Given the description of an element on the screen output the (x, y) to click on. 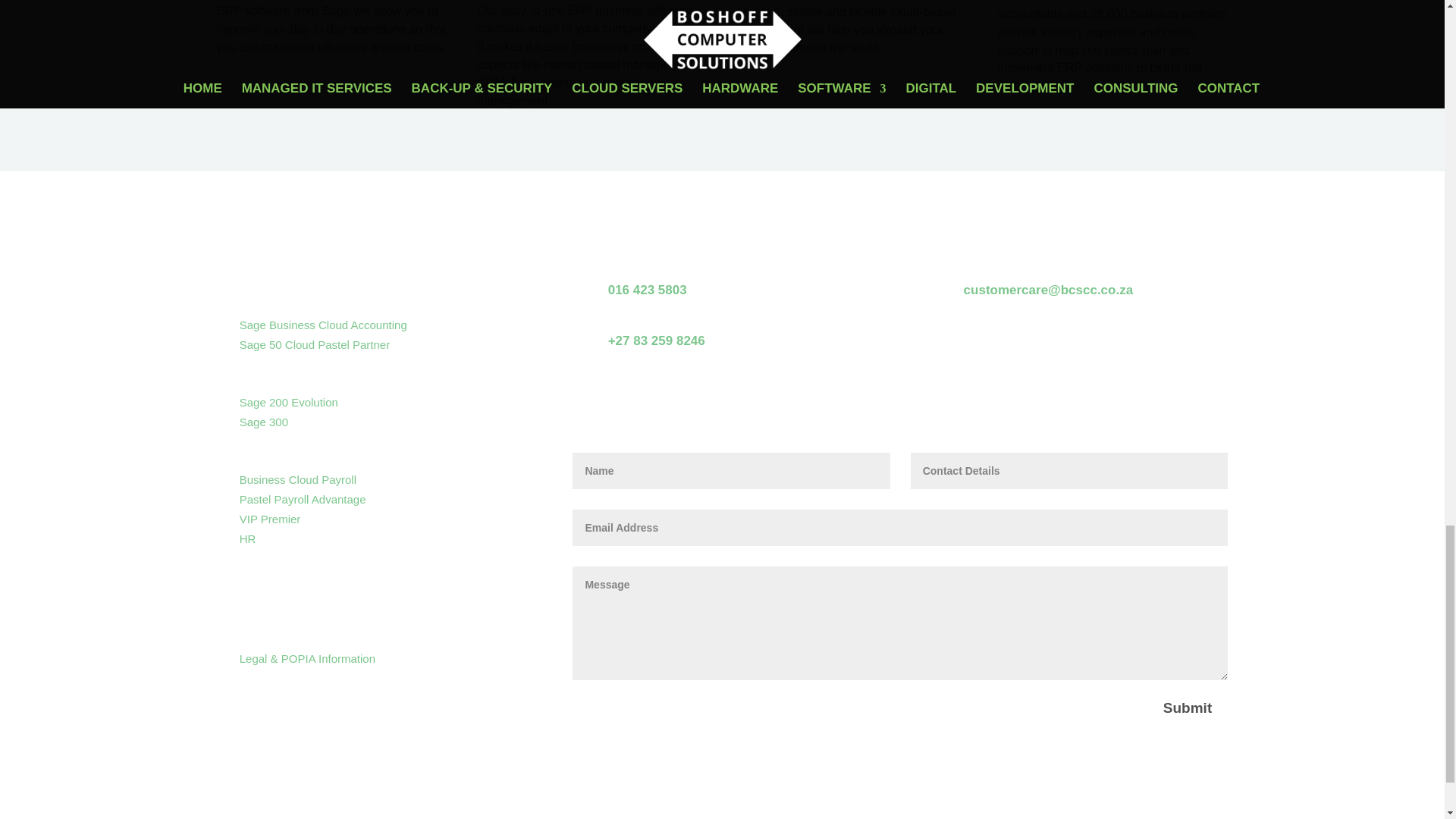
Sage 50 Cloud Pastel Partner (315, 344)
Sage 300 (264, 421)
VIP Premier (270, 518)
Get Internet For Your Business (368, 616)
Sage 200 Evolution (288, 401)
016 423 5803 (647, 289)
Pastel Payroll Advantage (303, 499)
HR (248, 538)
Sage Business Cloud Accounting (323, 324)
Xperdyte (288, 575)
Business Cloud Payroll (298, 479)
